Given the description of an element on the screen output the (x, y) to click on. 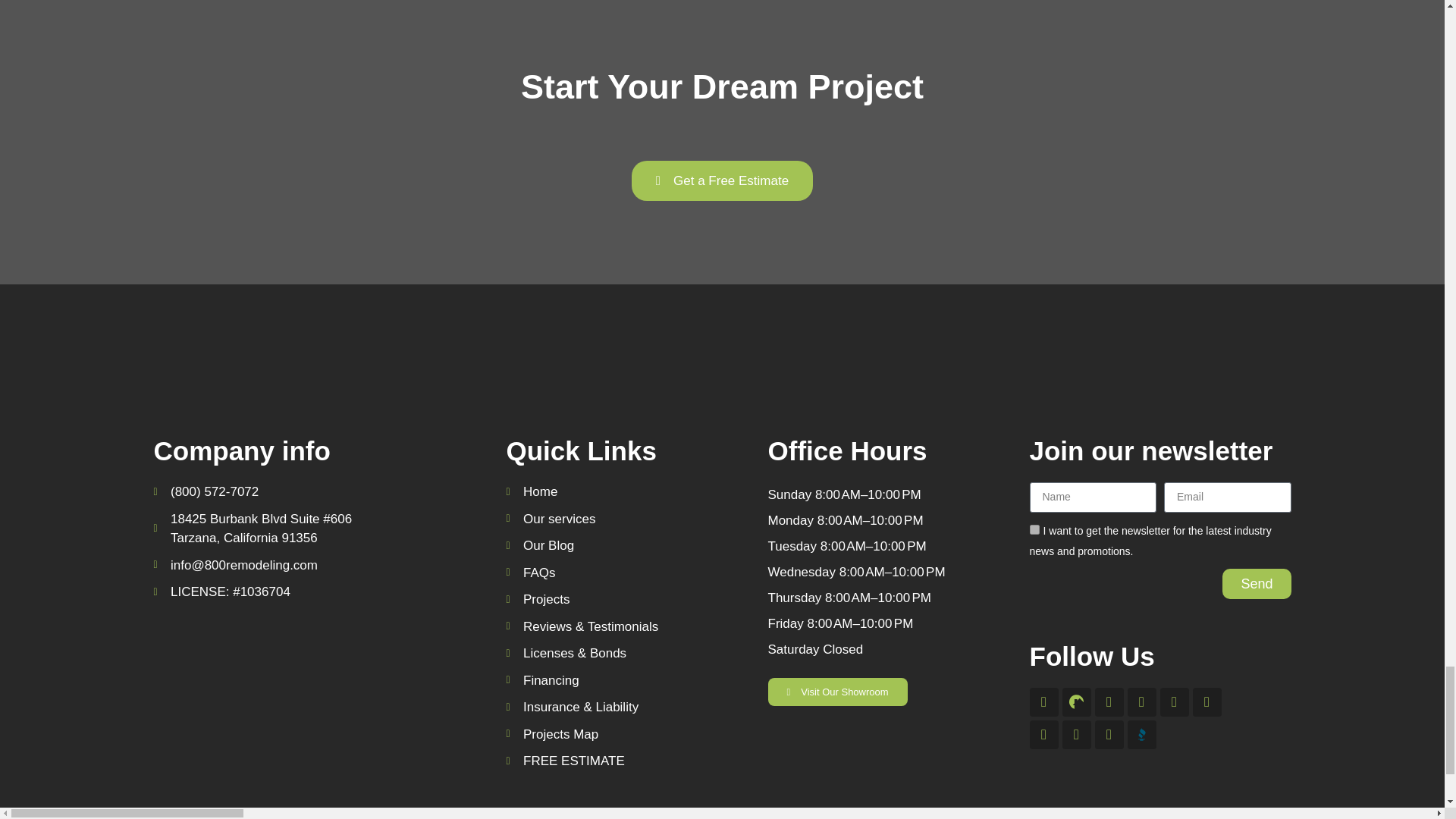
on (1034, 529)
